Given the description of an element on the screen output the (x, y) to click on. 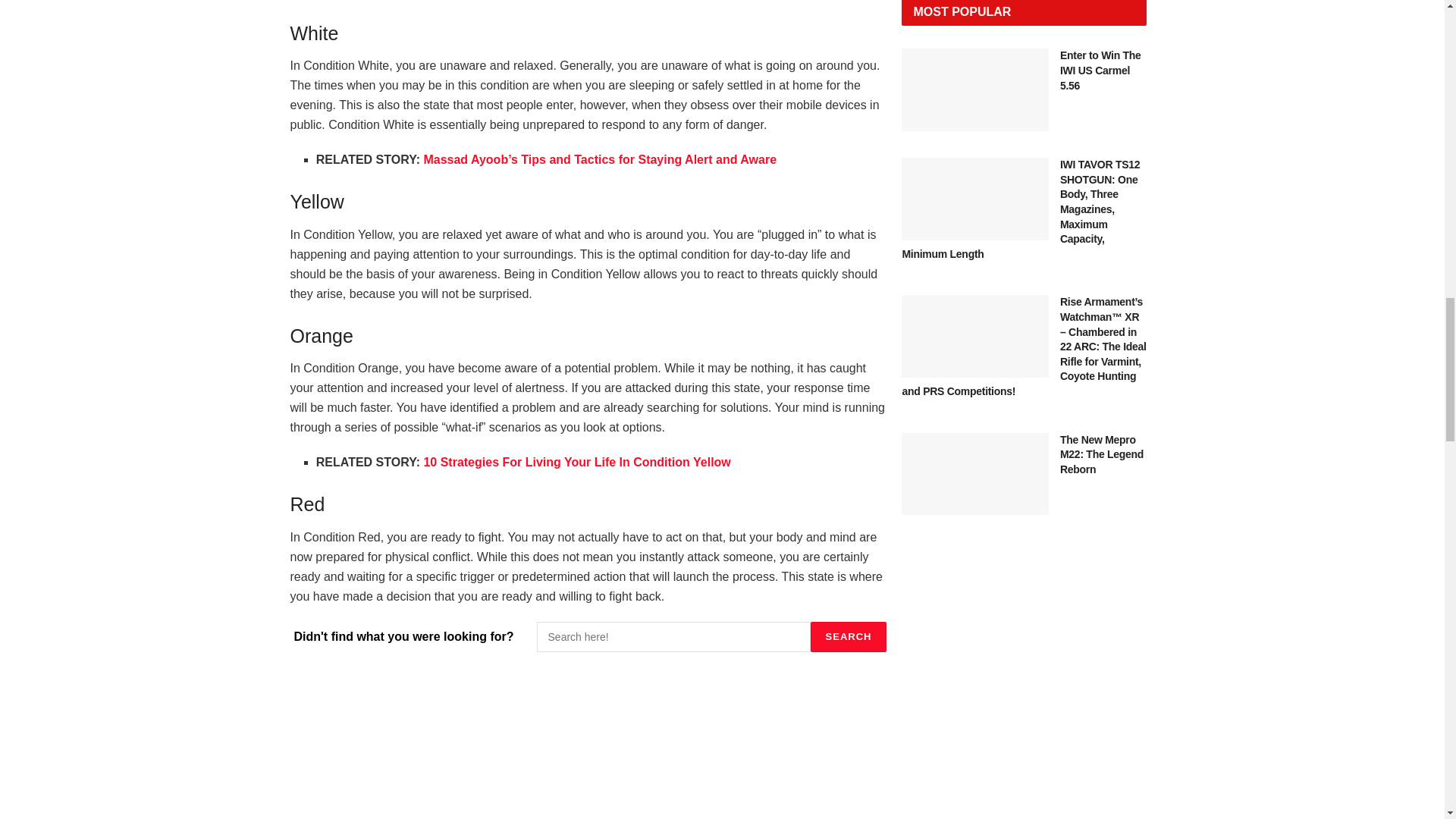
Page 1 (587, 566)
